Given the description of an element on the screen output the (x, y) to click on. 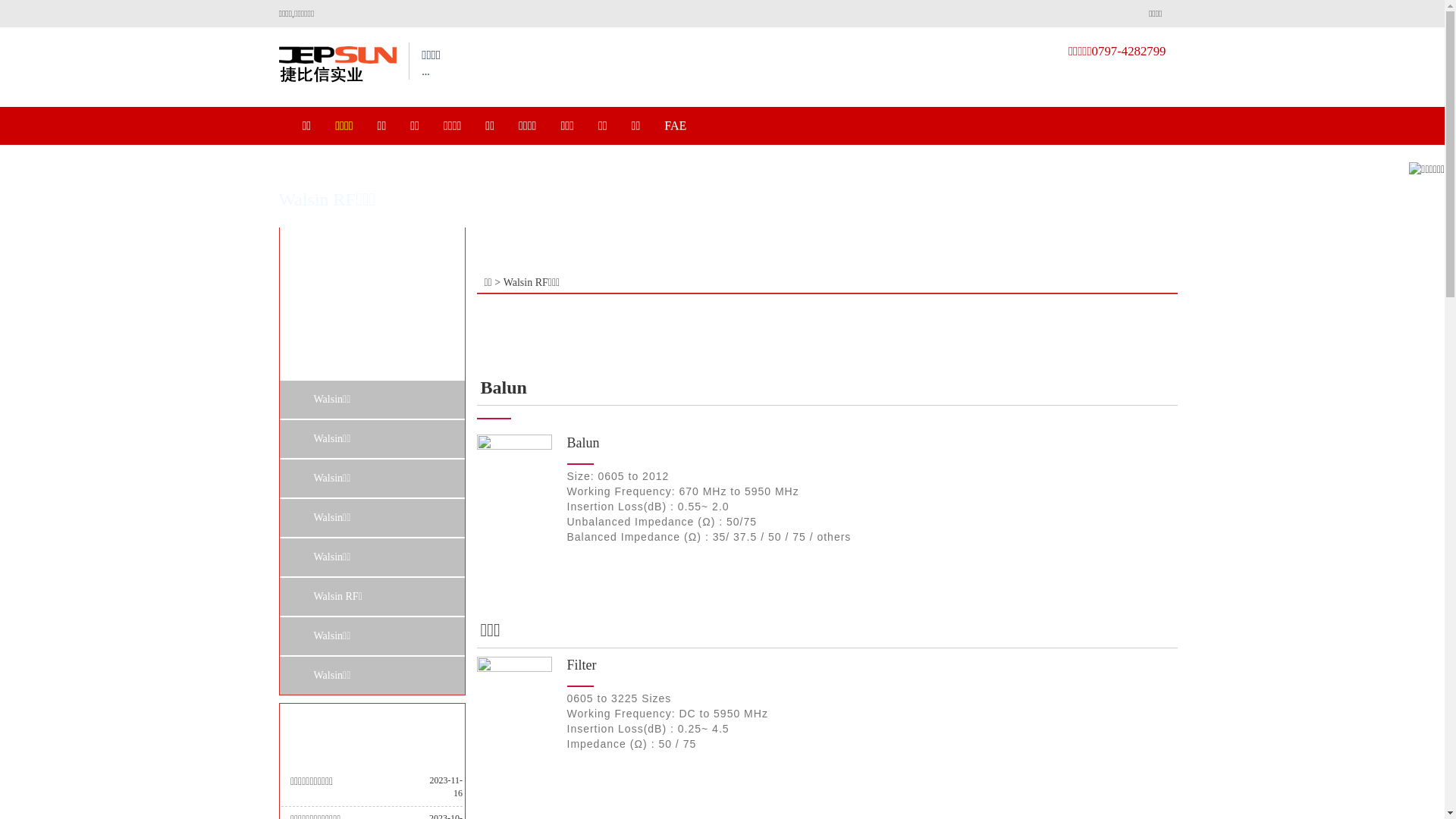
FAE Element type: text (675, 125)
